Given the description of an element on the screen output the (x, y) to click on. 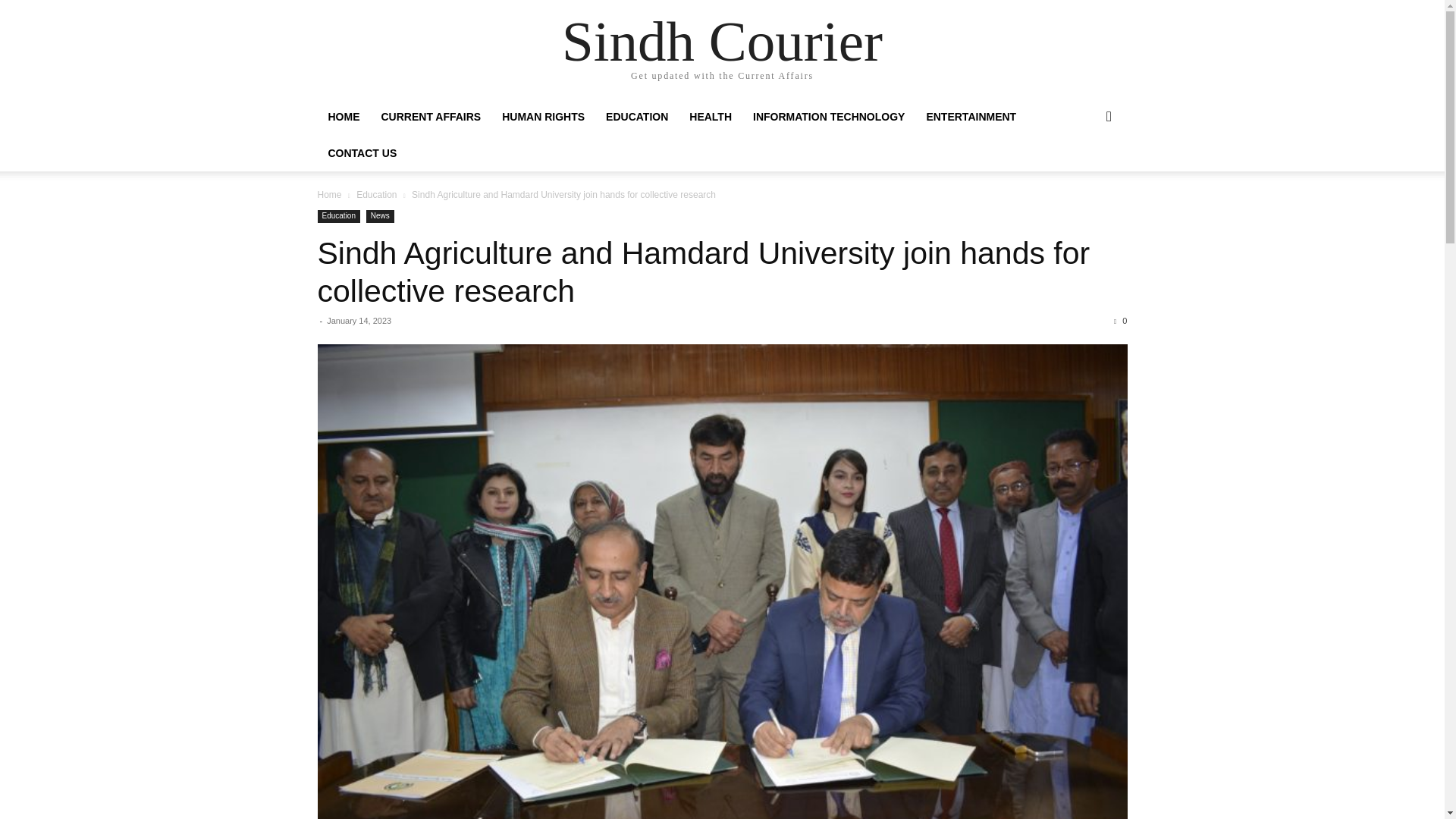
Search (1085, 177)
Home (328, 194)
Education (376, 194)
HOME (343, 116)
EDUCATION (636, 116)
Sindh Courier (722, 41)
HEALTH (710, 116)
CURRENT AFFAIRS (430, 116)
CONTACT US (362, 152)
0 (1119, 320)
Education (338, 215)
News (380, 215)
ENTERTAINMENT (970, 116)
